Given the description of an element on the screen output the (x, y) to click on. 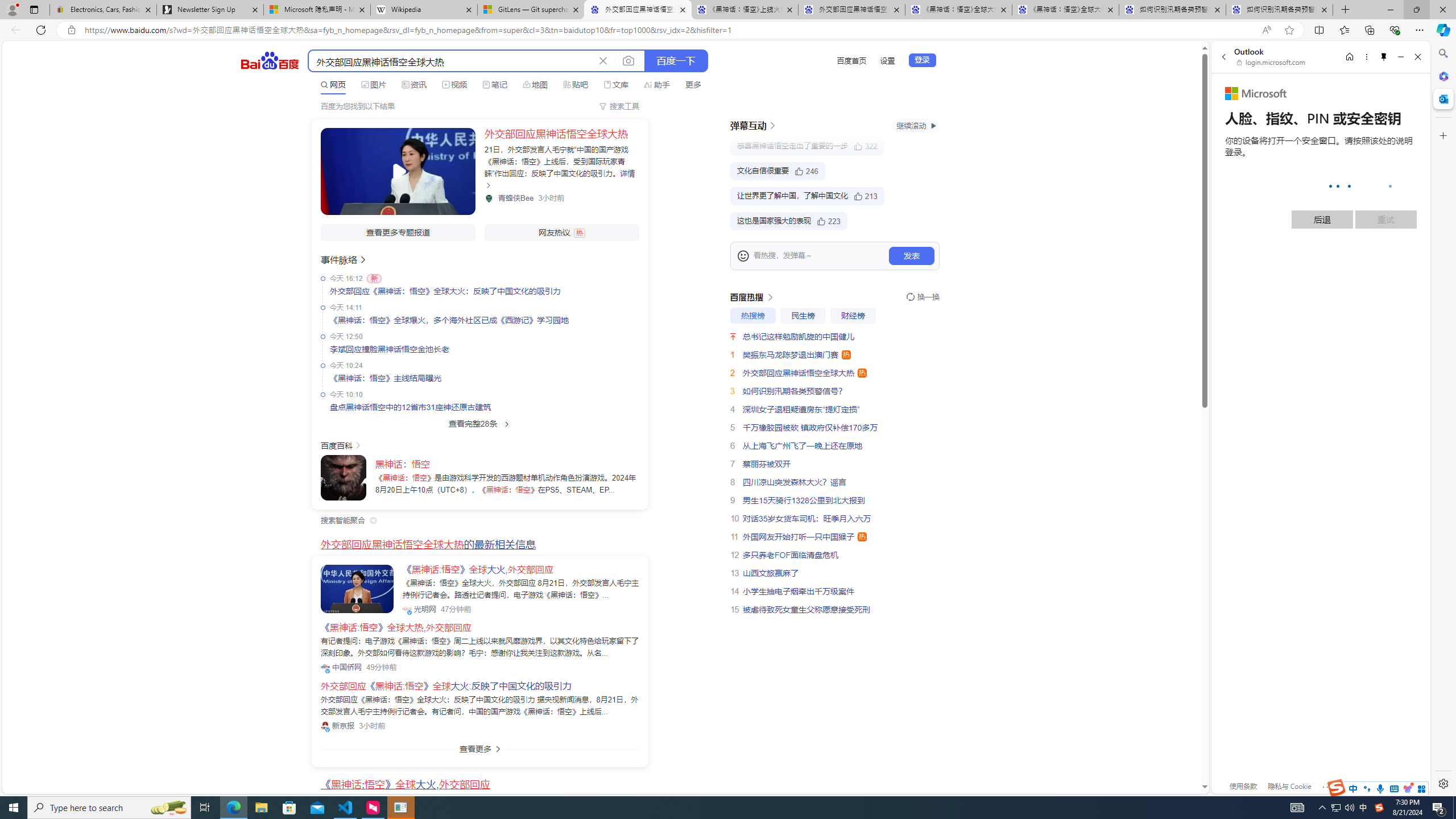
login.microsoft.com (1271, 61)
